Given the description of an element on the screen output the (x, y) to click on. 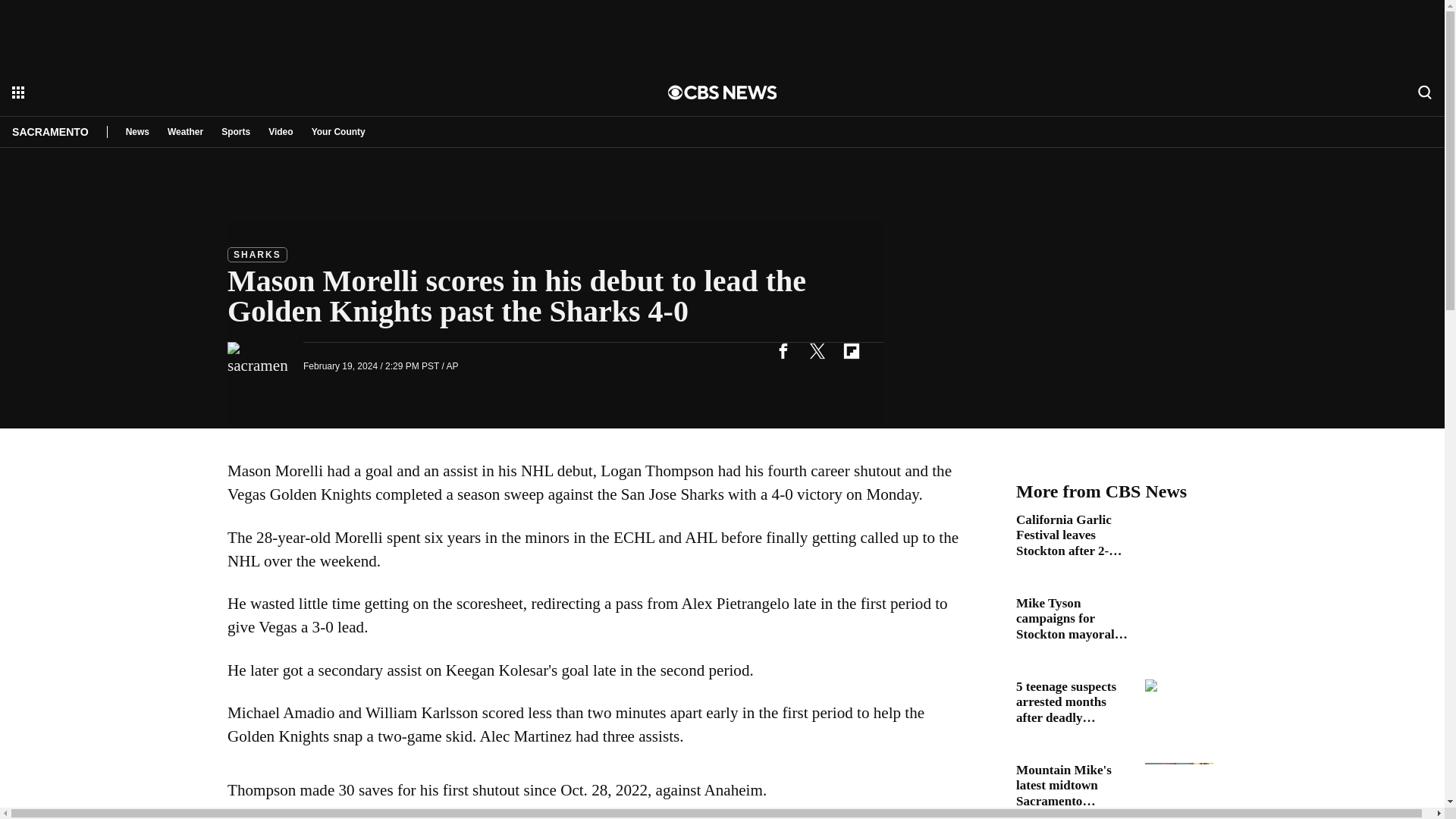
facebook (782, 350)
twitter (816, 350)
flipboard (850, 350)
